Given the description of an element on the screen output the (x, y) to click on. 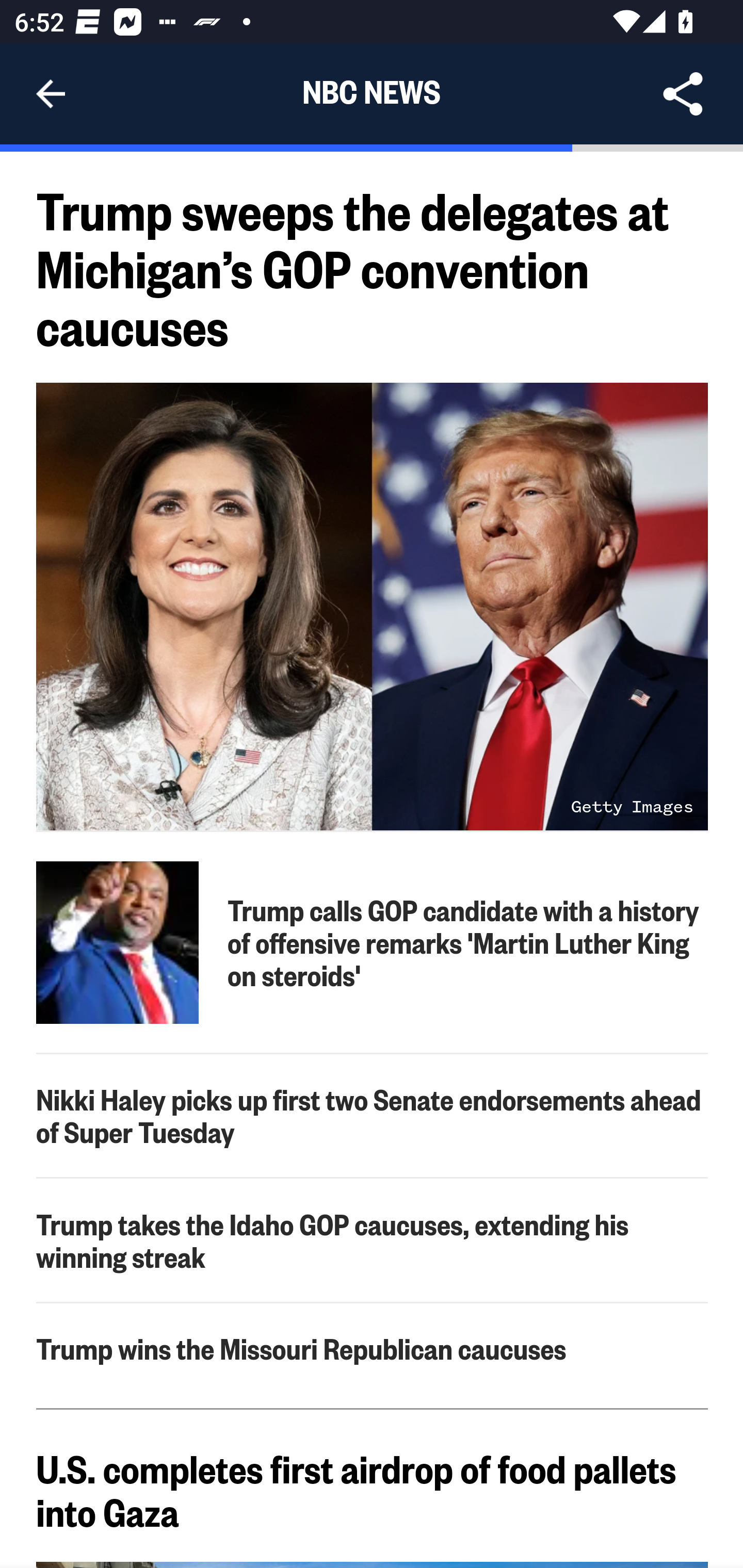
Navigate up (50, 93)
Share Article, button (683, 94)
Trump wins the Missouri Republican caucuses (372, 1348)
